Given the description of an element on the screen output the (x, y) to click on. 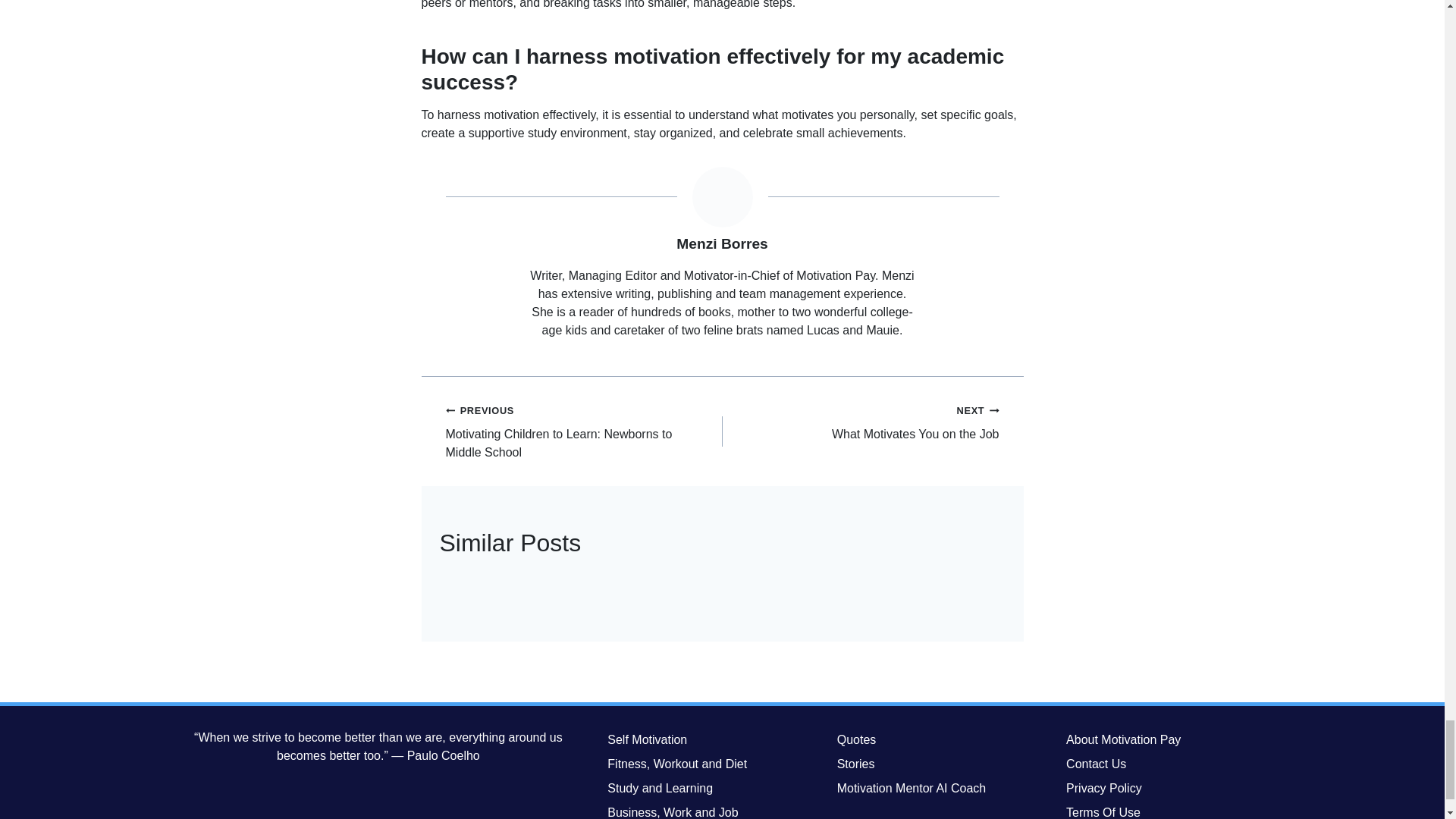
Menzi Borres (722, 243)
Posts by Menzi Borres (860, 422)
